Given the description of an element on the screen output the (x, y) to click on. 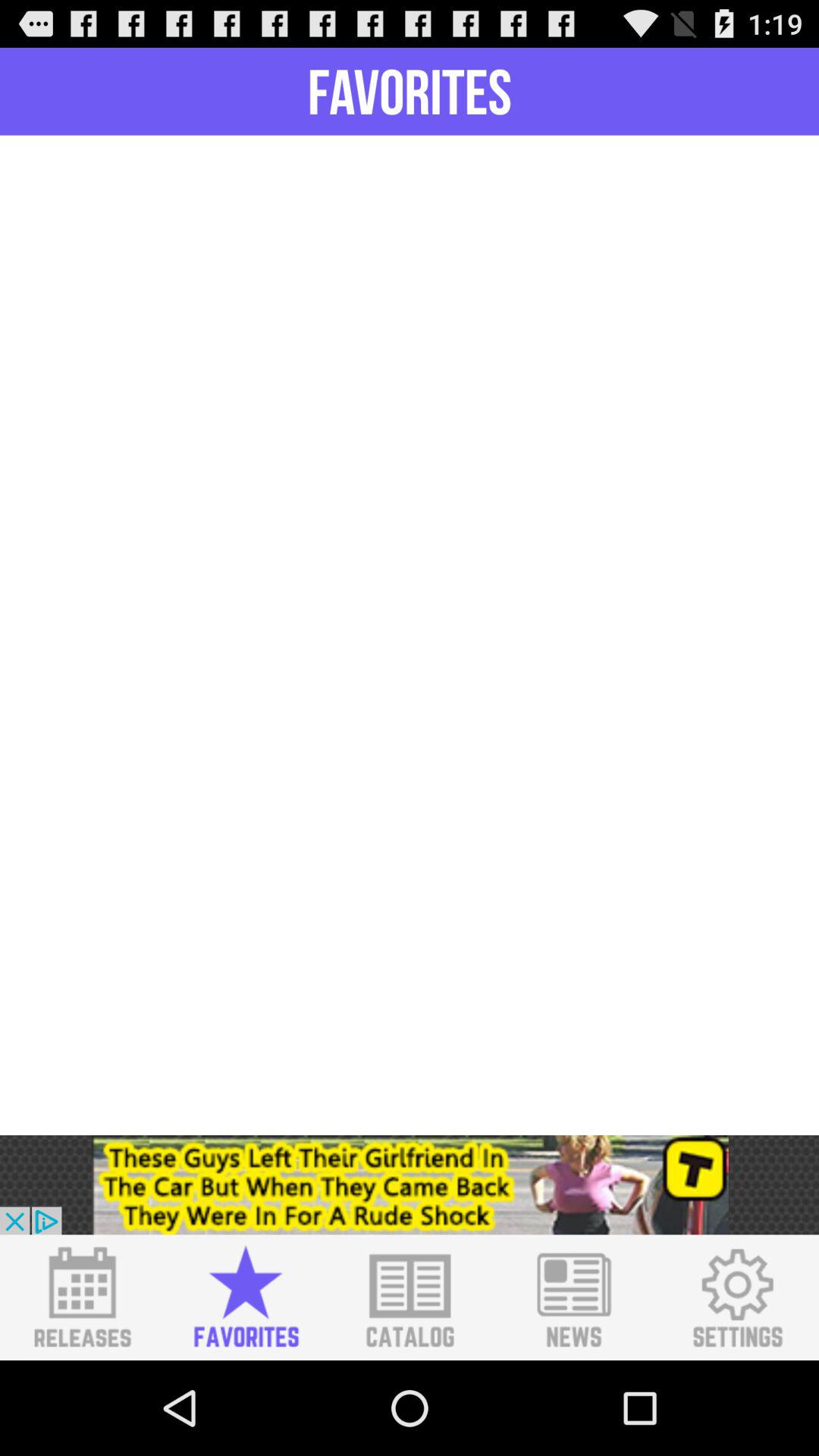
go to settings (737, 1297)
